Given the description of an element on the screen output the (x, y) to click on. 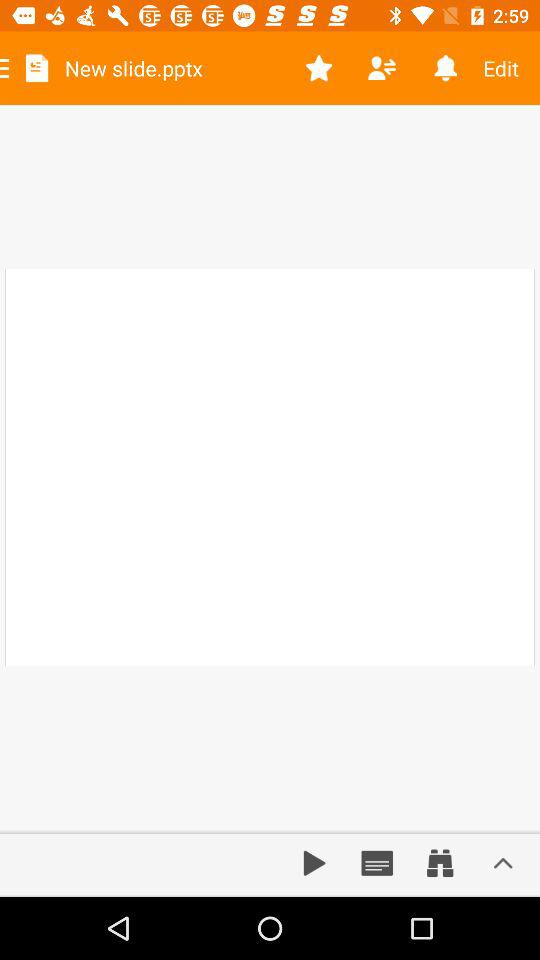
select person (381, 68)
